Given the description of an element on the screen output the (x, y) to click on. 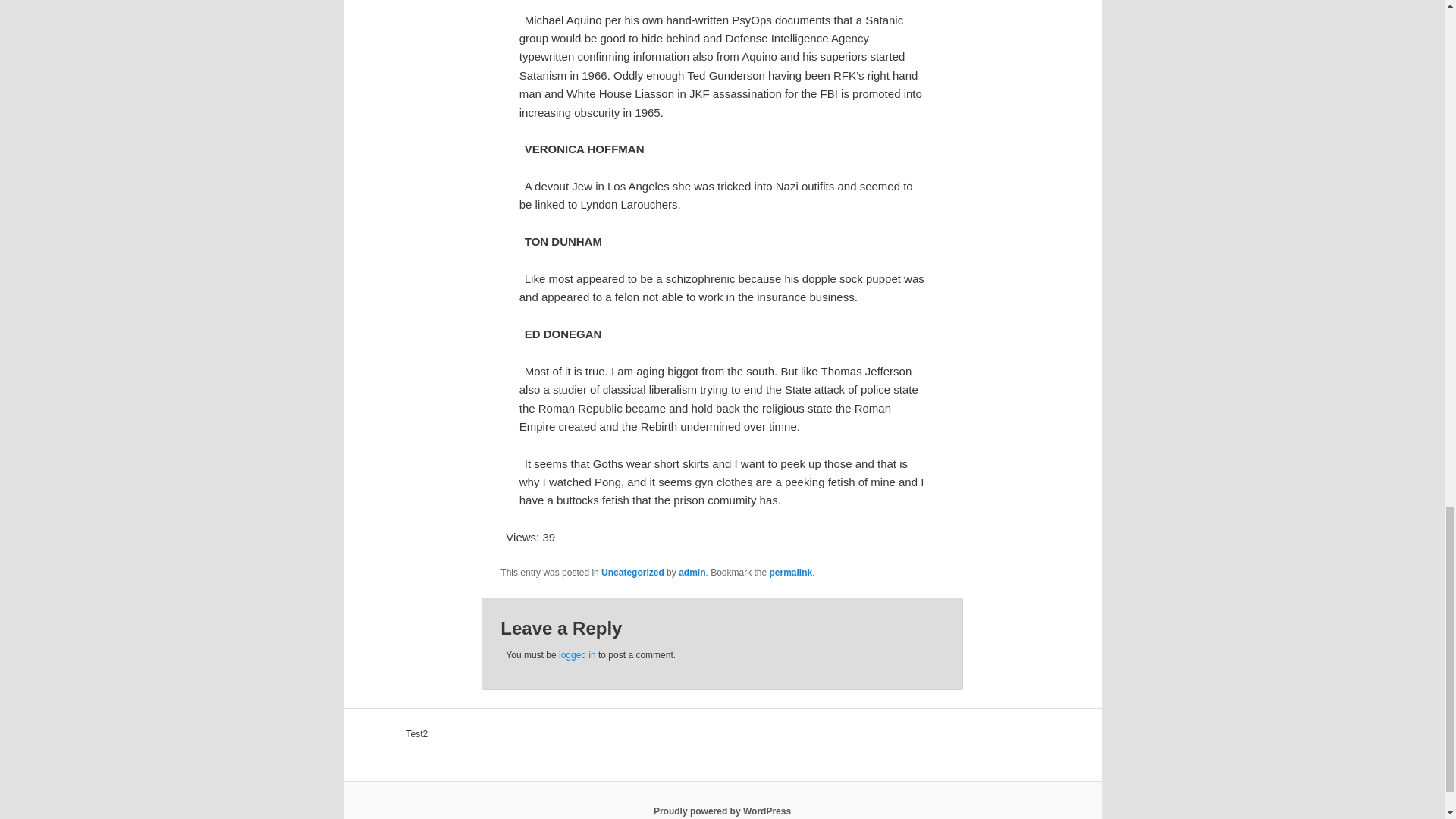
permalink (791, 572)
Proudly powered by WordPress (721, 810)
Uncategorized (632, 572)
Semantic Personal Publishing Platform (721, 810)
Permalink to Black Propoganda is Calculated Rather Than True (791, 572)
logged in (577, 655)
admin (691, 572)
